Given the description of an element on the screen output the (x, y) to click on. 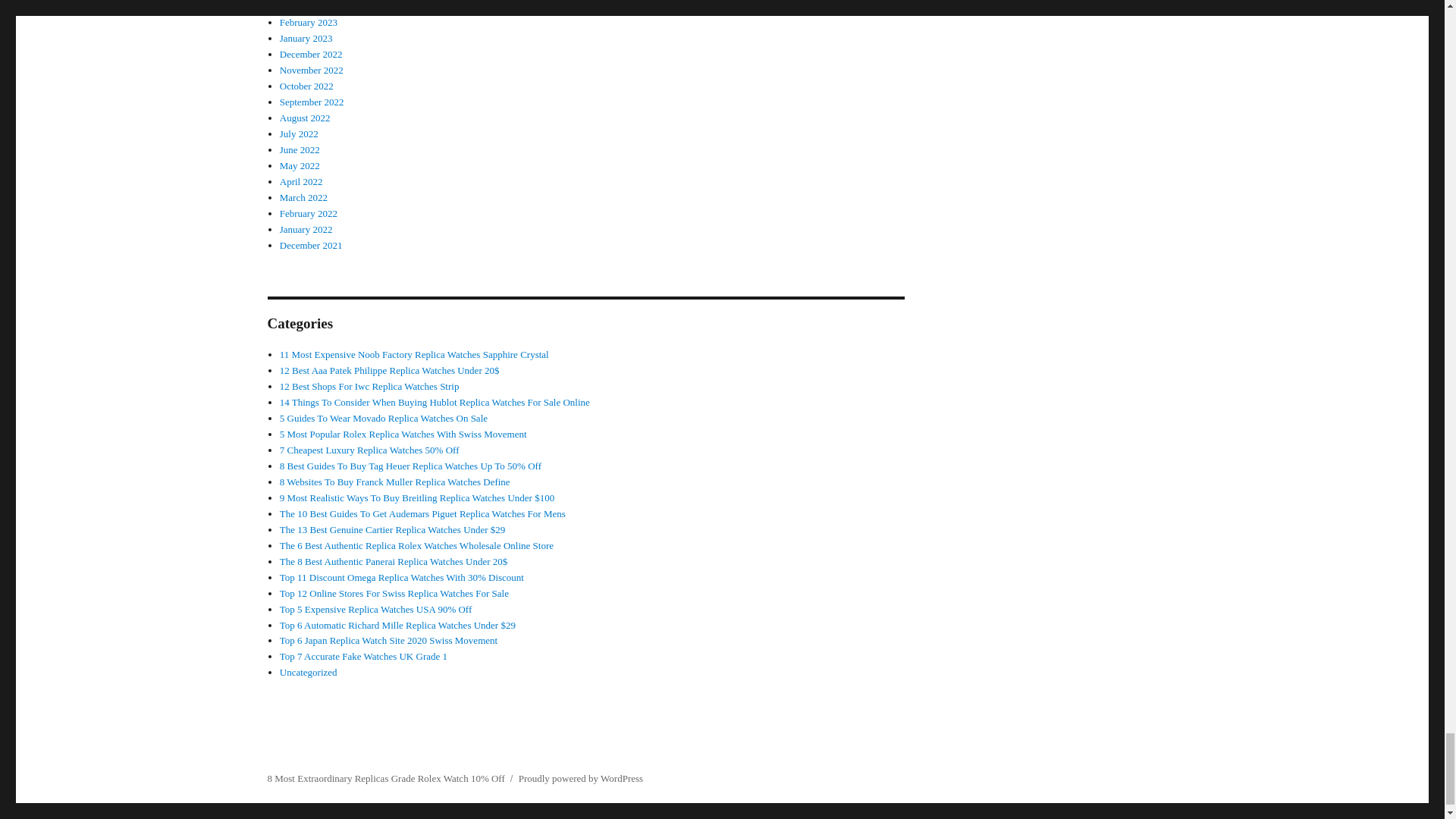
December 2022 (310, 53)
November 2022 (311, 70)
October 2022 (306, 85)
May 2022 (299, 165)
February 2023 (308, 21)
January 2023 (306, 38)
September 2022 (311, 101)
July 2022 (298, 133)
March 2023 (303, 6)
June 2022 (299, 149)
